Given the description of an element on the screen output the (x, y) to click on. 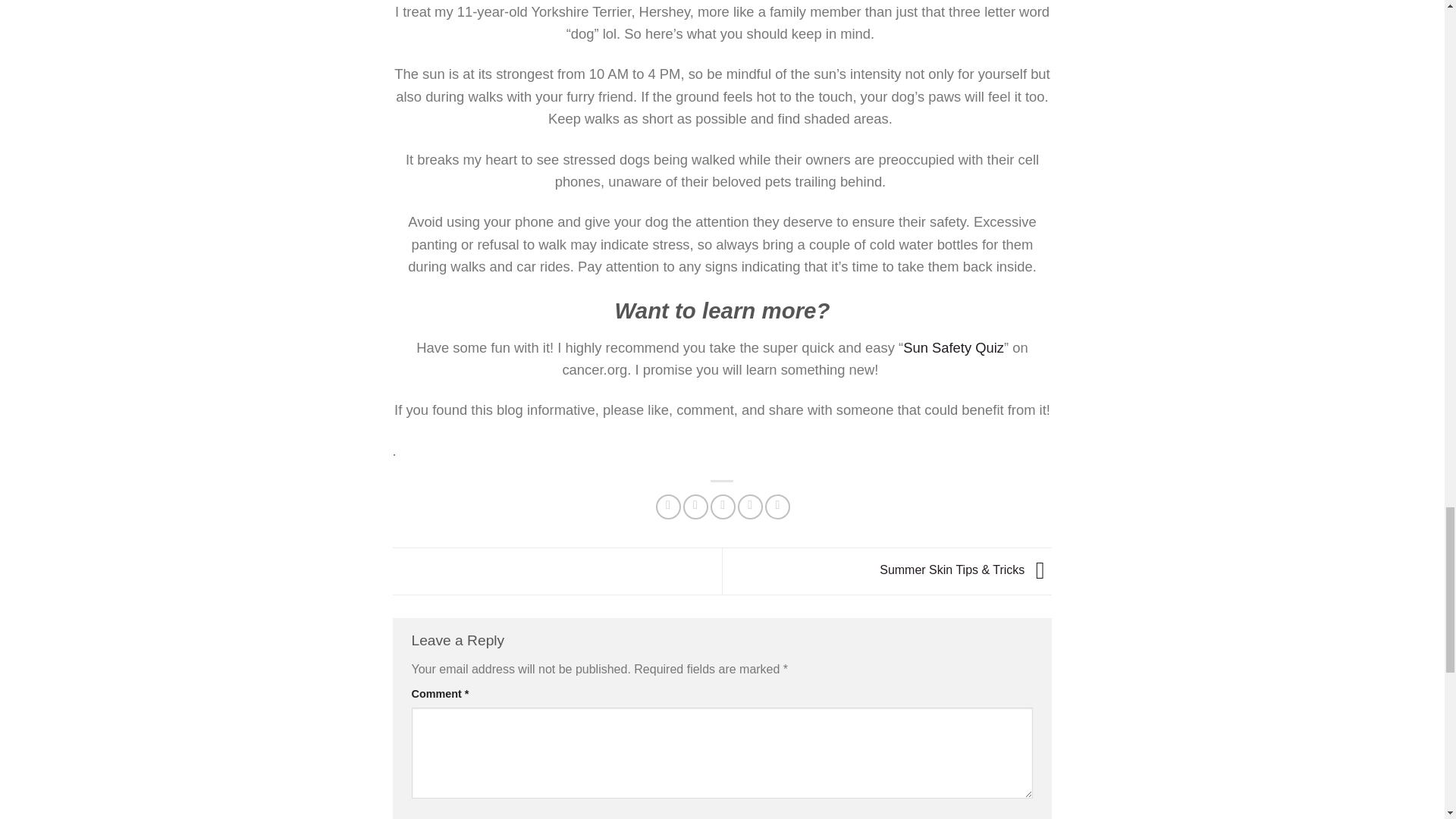
Share on Facebook (668, 506)
Sun Safety Quiz (953, 347)
Email to a Friend (722, 506)
Share on Twitter (694, 506)
Pin on Pinterest (750, 506)
Share on LinkedIn (777, 506)
